Given the description of an element on the screen output the (x, y) to click on. 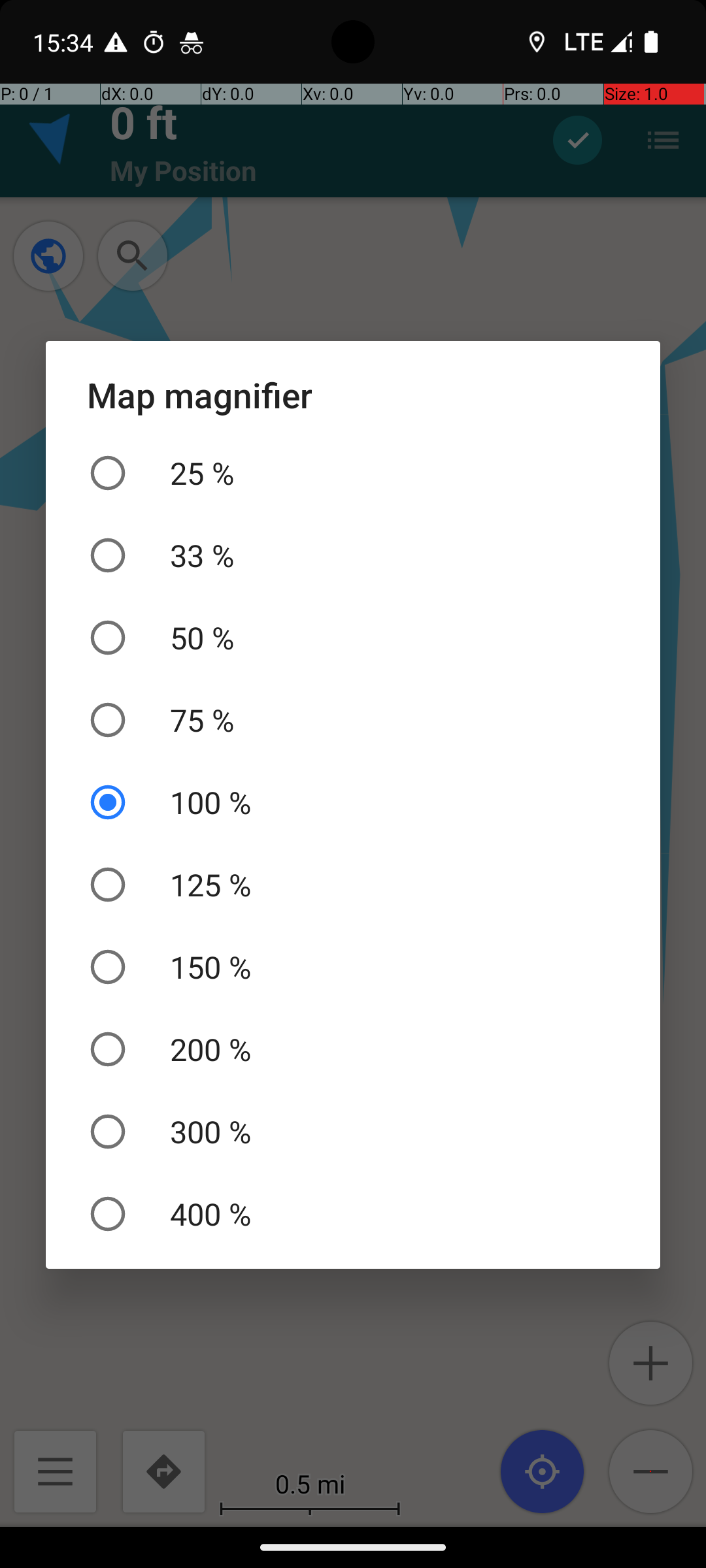
Map magnifier Element type: android.widget.TextView (352, 394)
25 % Element type: android.widget.CheckedTextView (352, 472)
33 % Element type: android.widget.CheckedTextView (352, 555)
50 % Element type: android.widget.CheckedTextView (352, 637)
75 % Element type: android.widget.CheckedTextView (352, 719)
100 % Element type: android.widget.CheckedTextView (352, 802)
125 % Element type: android.widget.CheckedTextView (352, 884)
150 % Element type: android.widget.CheckedTextView (352, 966)
200 % Element type: android.widget.CheckedTextView (352, 1049)
300 % Element type: android.widget.CheckedTextView (352, 1131)
400 % Element type: android.widget.CheckedTextView (352, 1213)
